Given the description of an element on the screen output the (x, y) to click on. 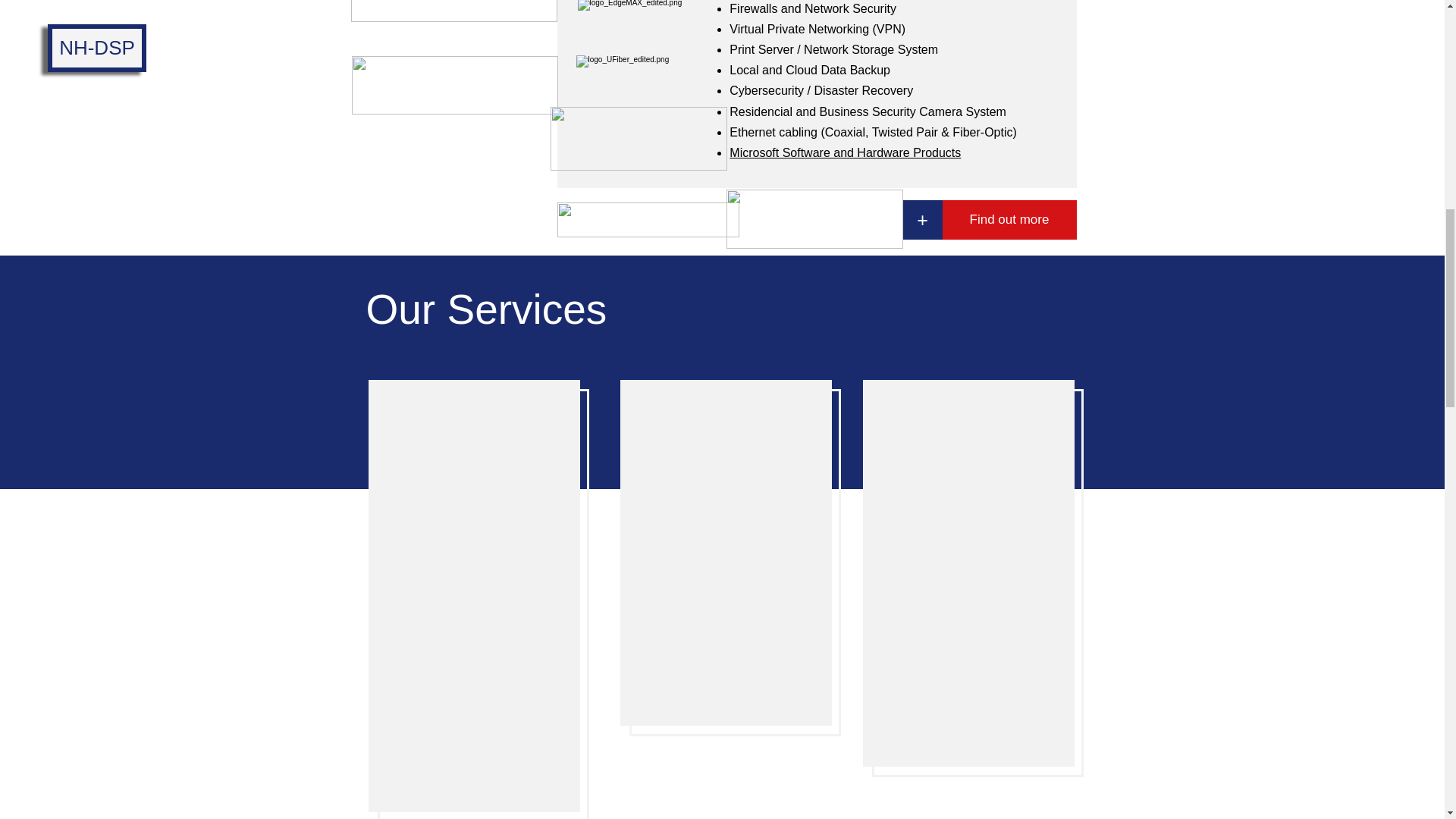
Microsoft Partner.png (814, 218)
Find out more (1008, 219)
Carbonite - an-opentext-company - logo.p (638, 138)
Microsoft Software and Hardware Products (844, 152)
